Given the description of an element on the screen output the (x, y) to click on. 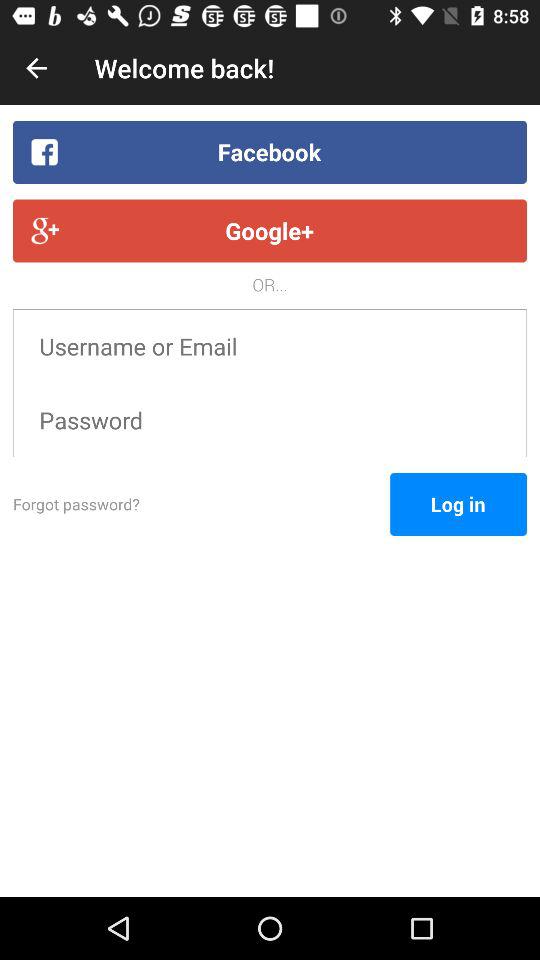
launch the facebook item (269, 151)
